Given the description of an element on the screen output the (x, y) to click on. 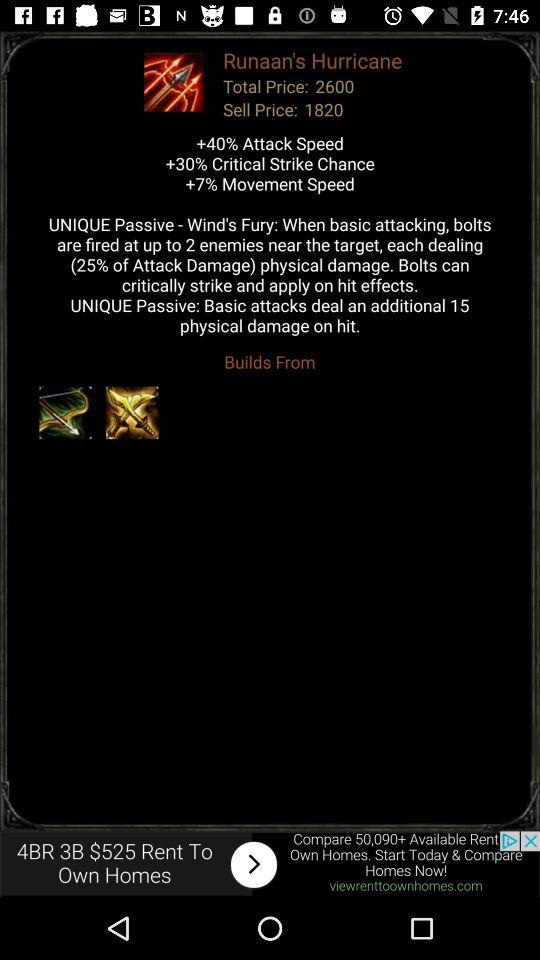
click advertisement (270, 864)
